Given the description of an element on the screen output the (x, y) to click on. 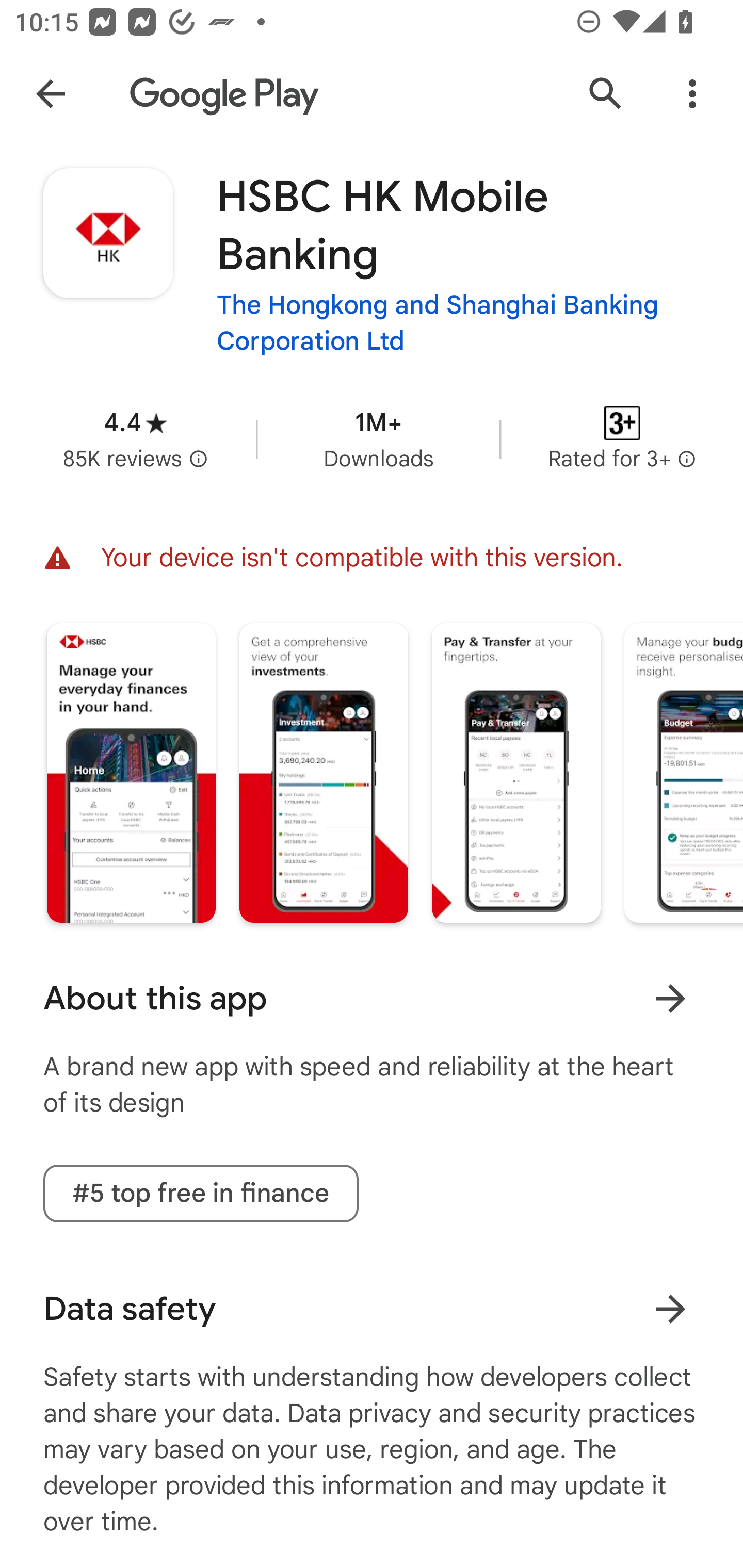
Navigate up (50, 93)
Search Google Play (605, 93)
More Options (692, 93)
The Hongkong and Shanghai Banking Corporation Ltd (457, 323)
Average rating 4.4 stars in 85 thousand reviews (135, 439)
Content rating Rated for 3+ (622, 439)
Screenshot "1" of "5" (130, 771)
Screenshot "2" of "5" (323, 771)
Screenshot "3" of "5" (515, 771)
Screenshot "4" of "5" (683, 771)
About this app Learn more About this app (371, 998)
Learn more About this app (670, 997)
#5 top free in finance tag (200, 1193)
Data safety Learn more about data safety (371, 1309)
Learn more about data safety (670, 1308)
